Given the description of an element on the screen output the (x, y) to click on. 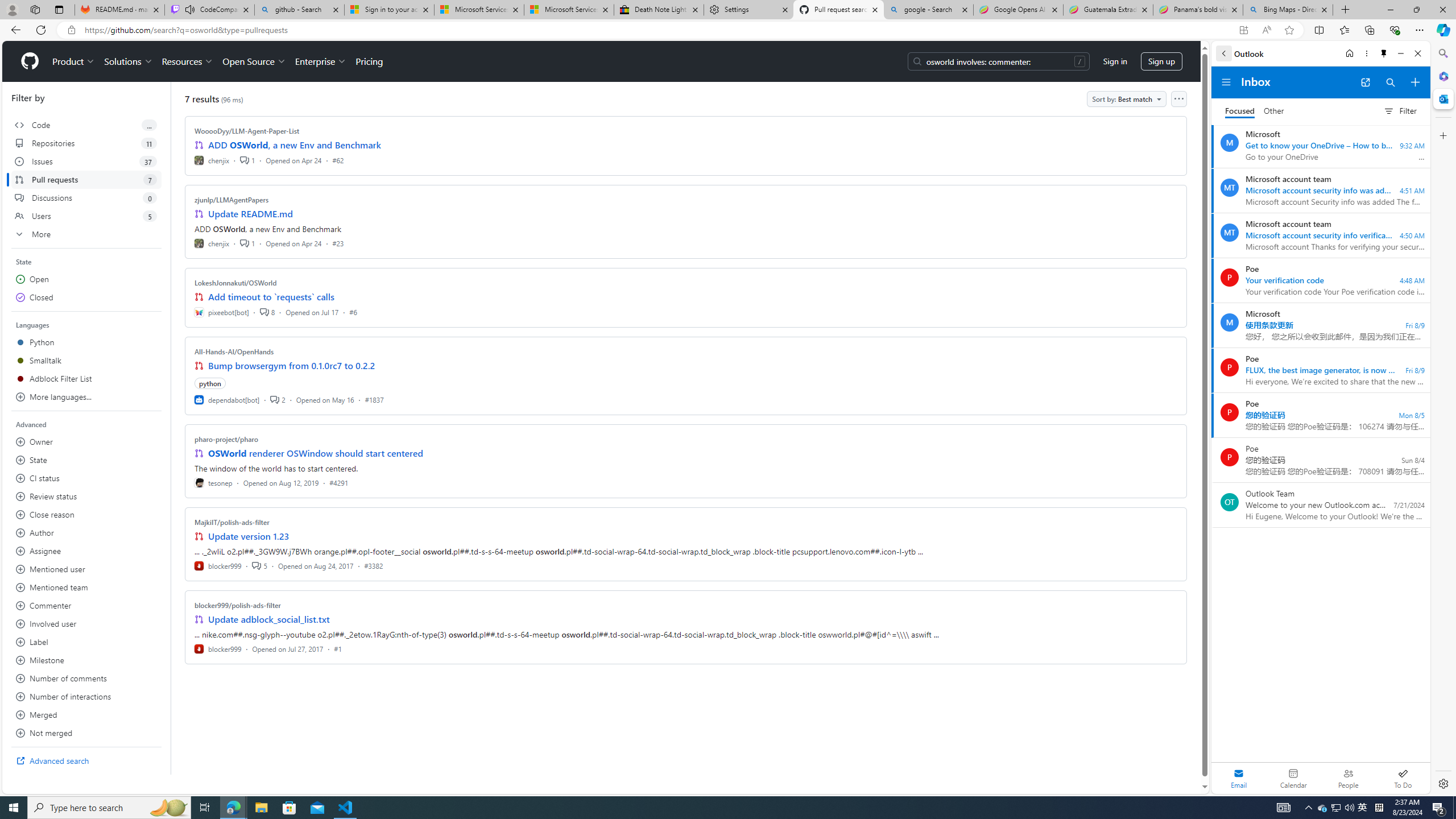
Bump browsergym from 0.1.0rc7 to 0.2.2 (291, 365)
LokeshJonnakuti/OSWorld (235, 282)
WooooDyy/LLM-Agent-Paper-List (247, 130)
